Given the description of an element on the screen output the (x, y) to click on. 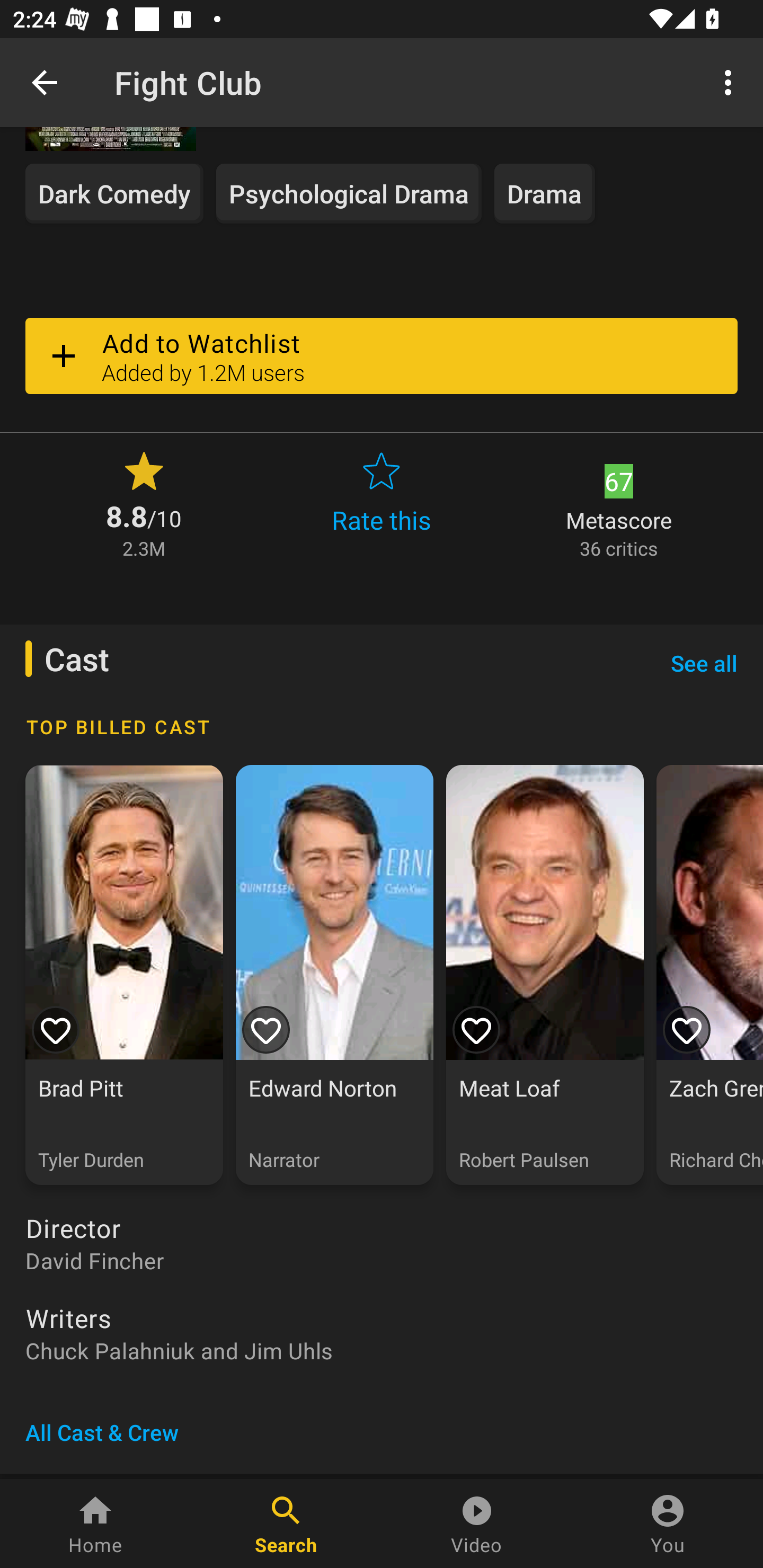
More options (731, 81)
Dark Comedy (114, 193)
Psychological Drama (348, 193)
Drama (544, 193)
Add to Watchlist Added by 1.2M users (381, 355)
8.8 /10 2.3M (143, 503)
Rate this (381, 503)
67 Metascore 36 critics (618, 503)
See all See all Cast (703, 662)
Brad Pitt Tyler Durden (123, 975)
Edward Norton Narrator (334, 975)
Meat Loaf Robert Paulsen (544, 975)
David Fincher (381, 1260)
Chuck Palahniuk and Jim Uhls (381, 1350)
All Cast & Crew (101, 1432)
Home (95, 1523)
Video (476, 1523)
You (667, 1523)
